Given the description of an element on the screen output the (x, y) to click on. 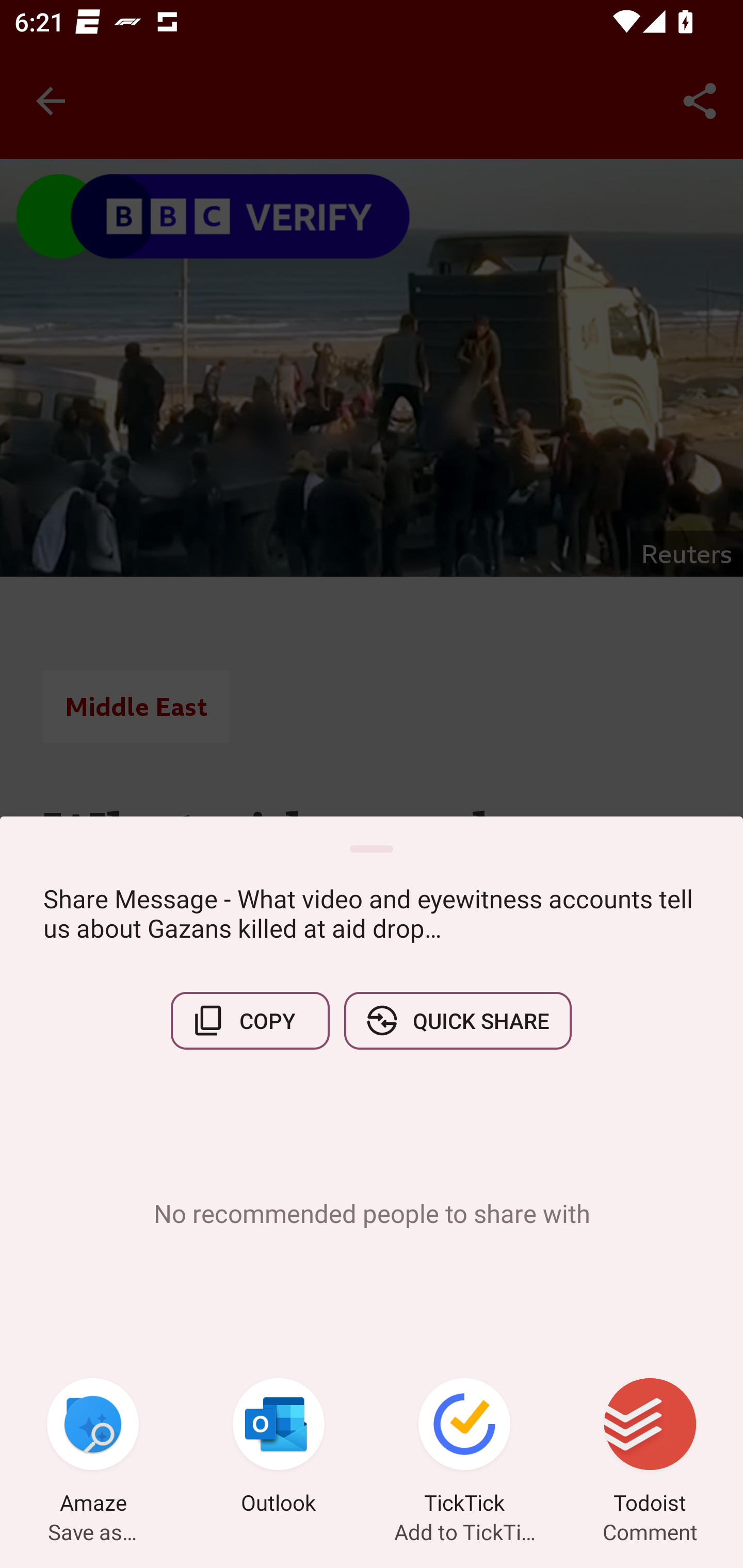
COPY (249, 1020)
QUICK SHARE (457, 1020)
Amaze Save as… (92, 1448)
Outlook (278, 1448)
TickTick Add to TickTick (464, 1448)
Todoist Comment (650, 1448)
